Given the description of an element on the screen output the (x, y) to click on. 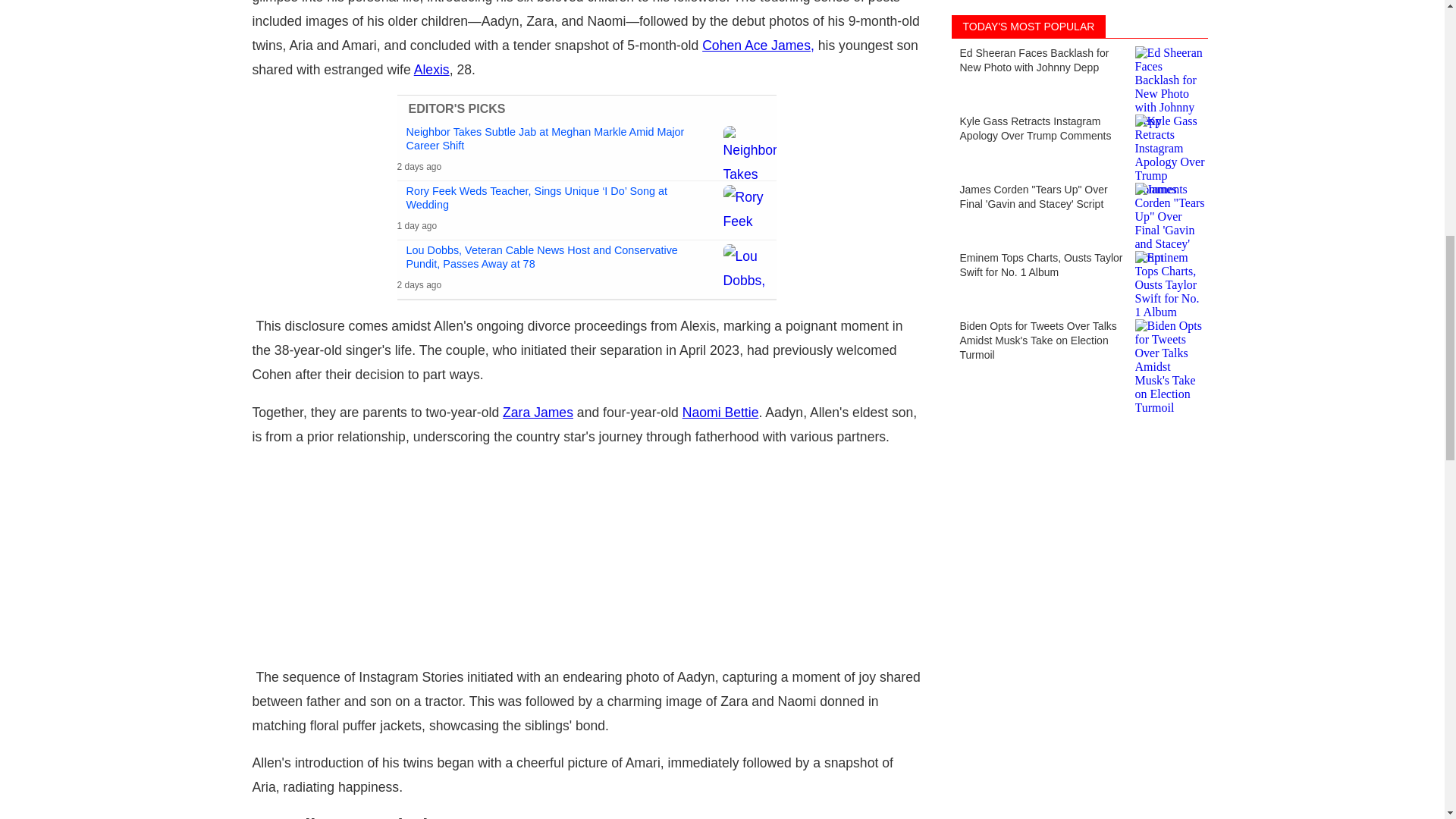
Alexis (431, 69)
Zara James (537, 412)
Cohen Ace James, (757, 45)
